Given the description of an element on the screen output the (x, y) to click on. 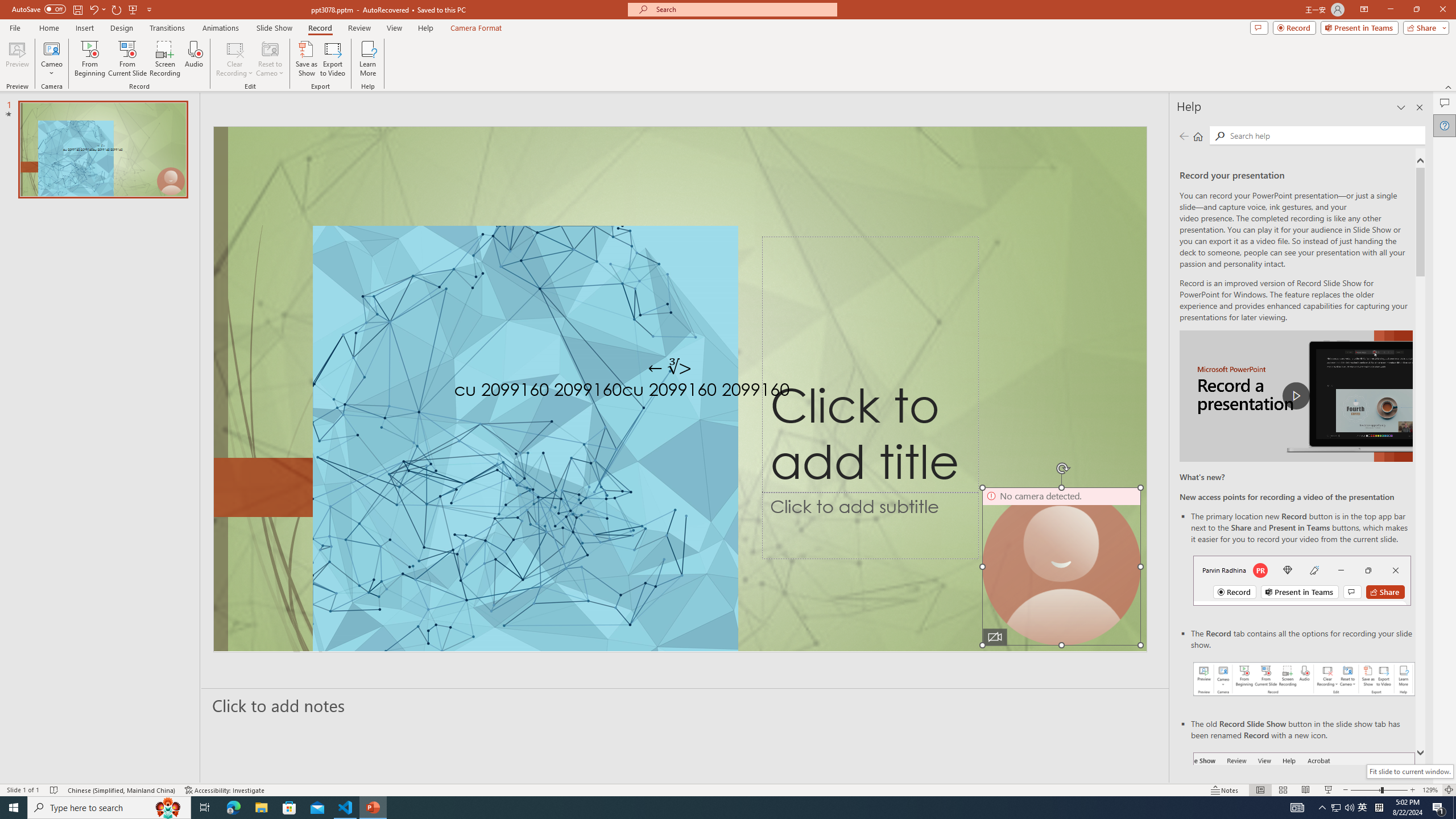
Record your presentations screenshot one (1304, 678)
Fit slide to current window. (1410, 771)
